Given the description of an element on the screen output the (x, y) to click on. 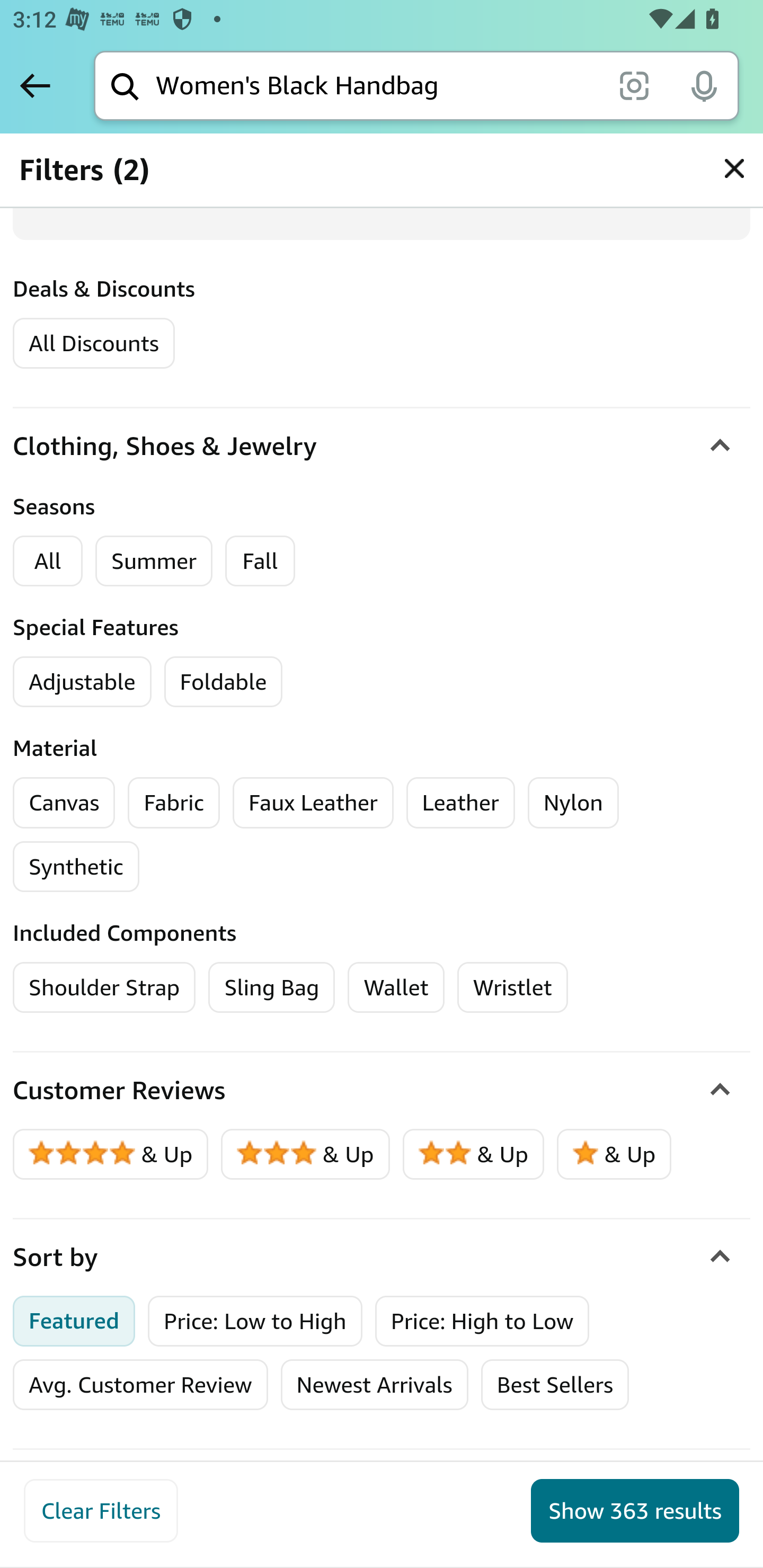
Back (35, 85)
scan it (633, 85)
All Discounts (93, 342)
Clothing, Shoes & Jewelry (381, 445)
All (47, 561)
Summer (153, 561)
Fall (260, 561)
Adjustable (82, 682)
Foldable (223, 682)
Canvas (63, 803)
Fabric (174, 803)
Faux Leather (312, 803)
Leather (460, 803)
Nylon (572, 803)
+6 (280, 797)
Synthetic (75, 866)
Shoulder Strap (104, 987)
Sling Bag (271, 987)
Wallet (395, 987)
Wristlet (512, 987)
Customer Reviews (381, 1091)
4 Stars & Up (110, 1154)
3 Stars & Up (305, 1154)
2 Stars & Up (473, 1154)
1 Star & Up (614, 1154)
Sort by (381, 1257)
Price: Low to High (255, 1320)
Price: High to Low (481, 1320)
Avg. Customer Review (140, 1385)
Newest Arrivals (374, 1385)
Best Sellers (554, 1385)
Clear Filters (100, 1510)
Show 363 results (635, 1510)
